Given the description of an element on the screen output the (x, y) to click on. 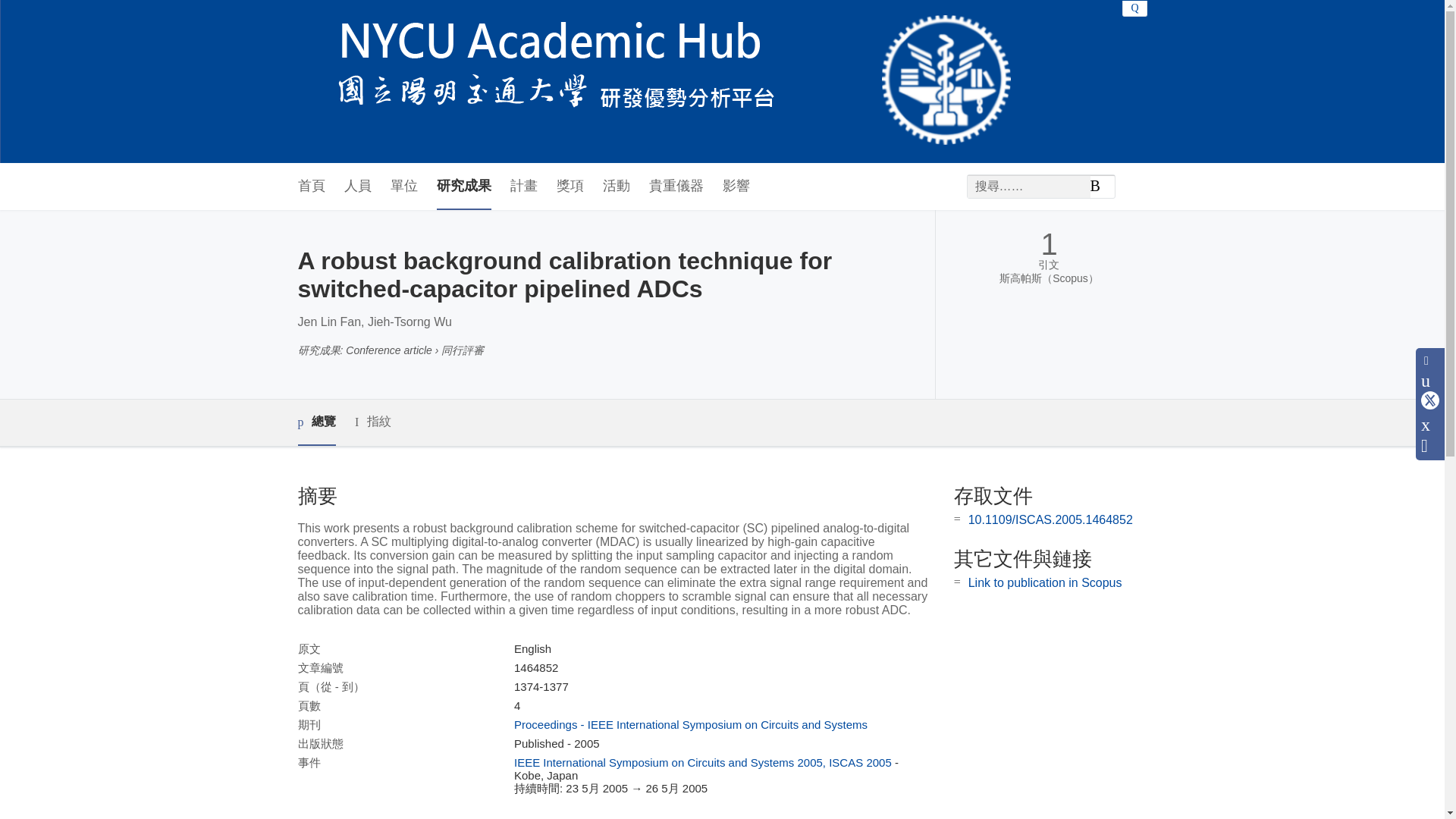
Link to publication in Scopus (1045, 582)
